Given the description of an element on the screen output the (x, y) to click on. 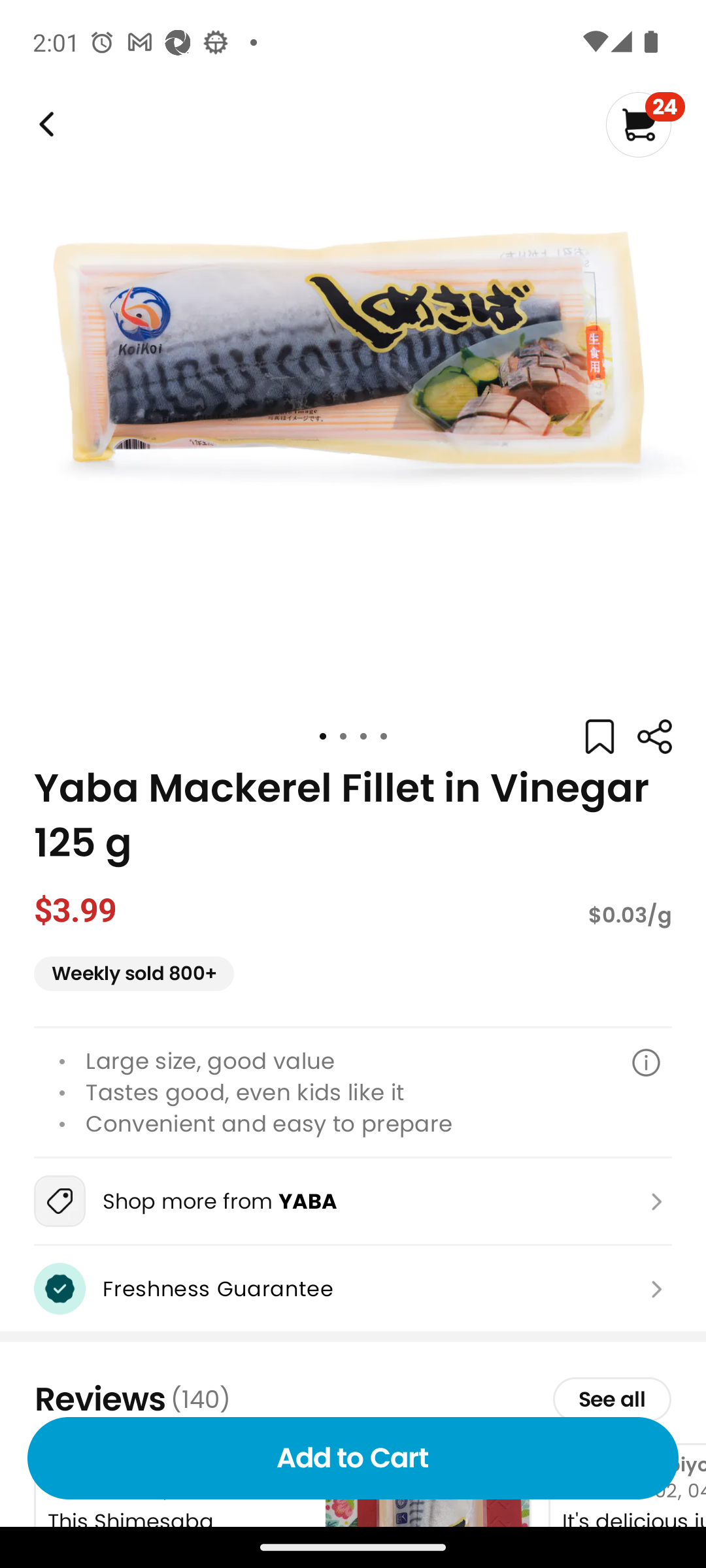
24 (644, 124)
Weee! (45, 124)
Weee! (653, 736)
Shop more from YABA Weee! (352, 1200)
Freshness Guarantee (352, 1288)
Reviews (140) See all (353, 1399)
Add to Cart (352, 1458)
